Given the description of an element on the screen output the (x, y) to click on. 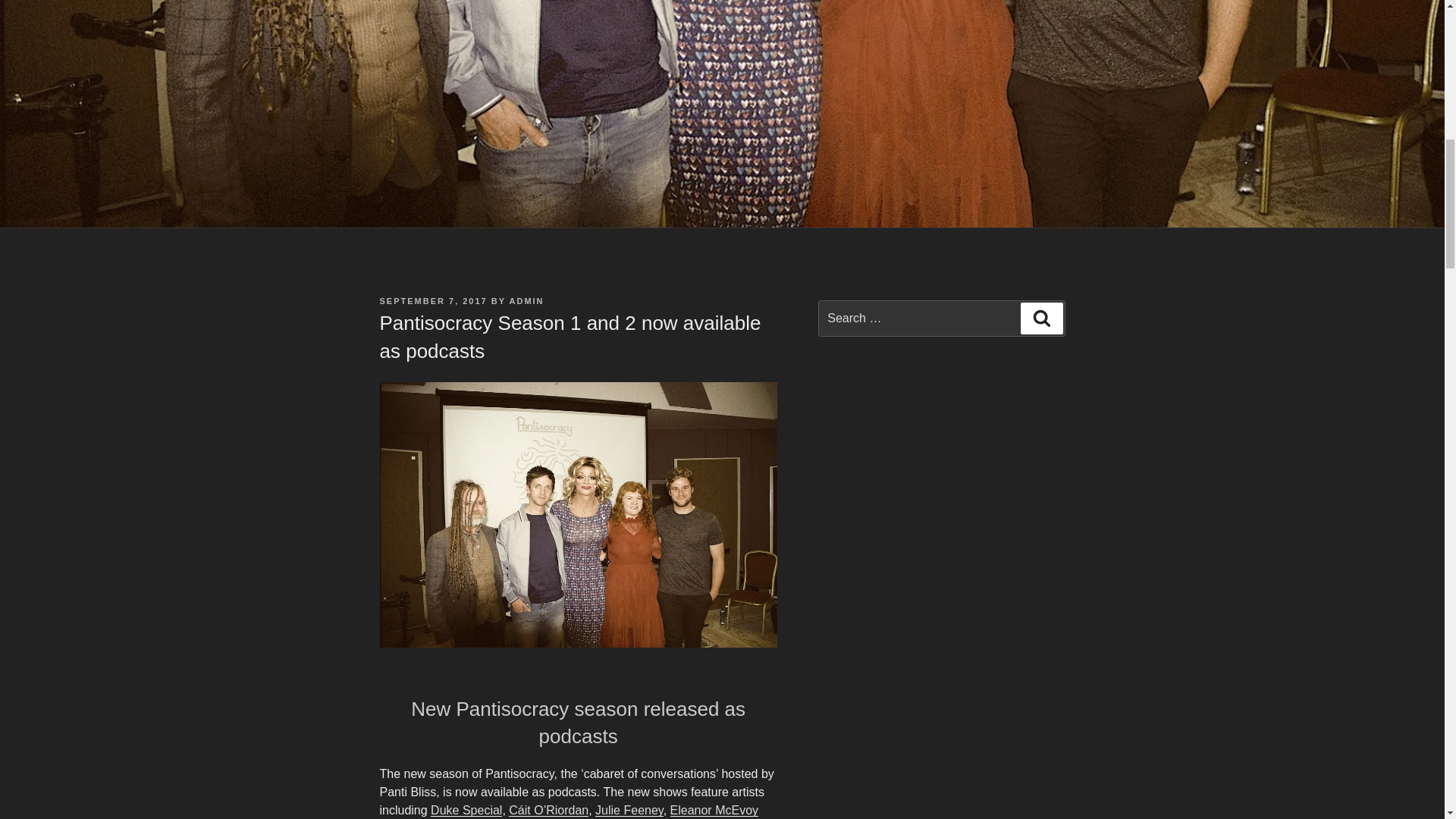
SEPTEMBER 7, 2017 (432, 300)
Julie Feeney (629, 809)
Search (1041, 318)
Duke Special (466, 809)
ADMIN (526, 300)
Eleanor McEvoy (713, 809)
